Given the description of an element on the screen output the (x, y) to click on. 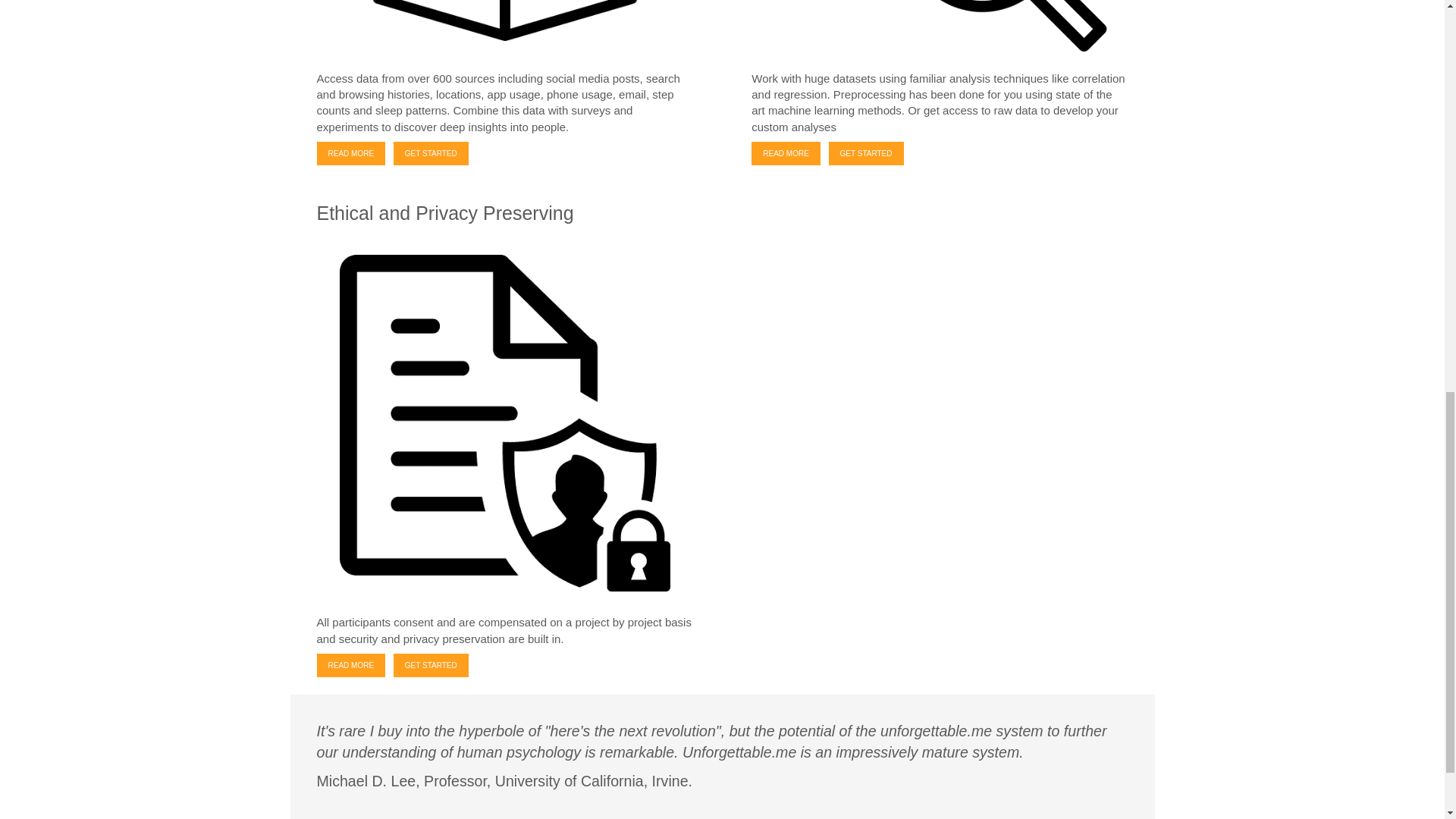
GET STARTED (430, 153)
READ MORE (786, 153)
READ MORE (351, 665)
GET STARTED (866, 153)
READ MORE (351, 153)
GET STARTED (430, 665)
